Given the description of an element on the screen output the (x, y) to click on. 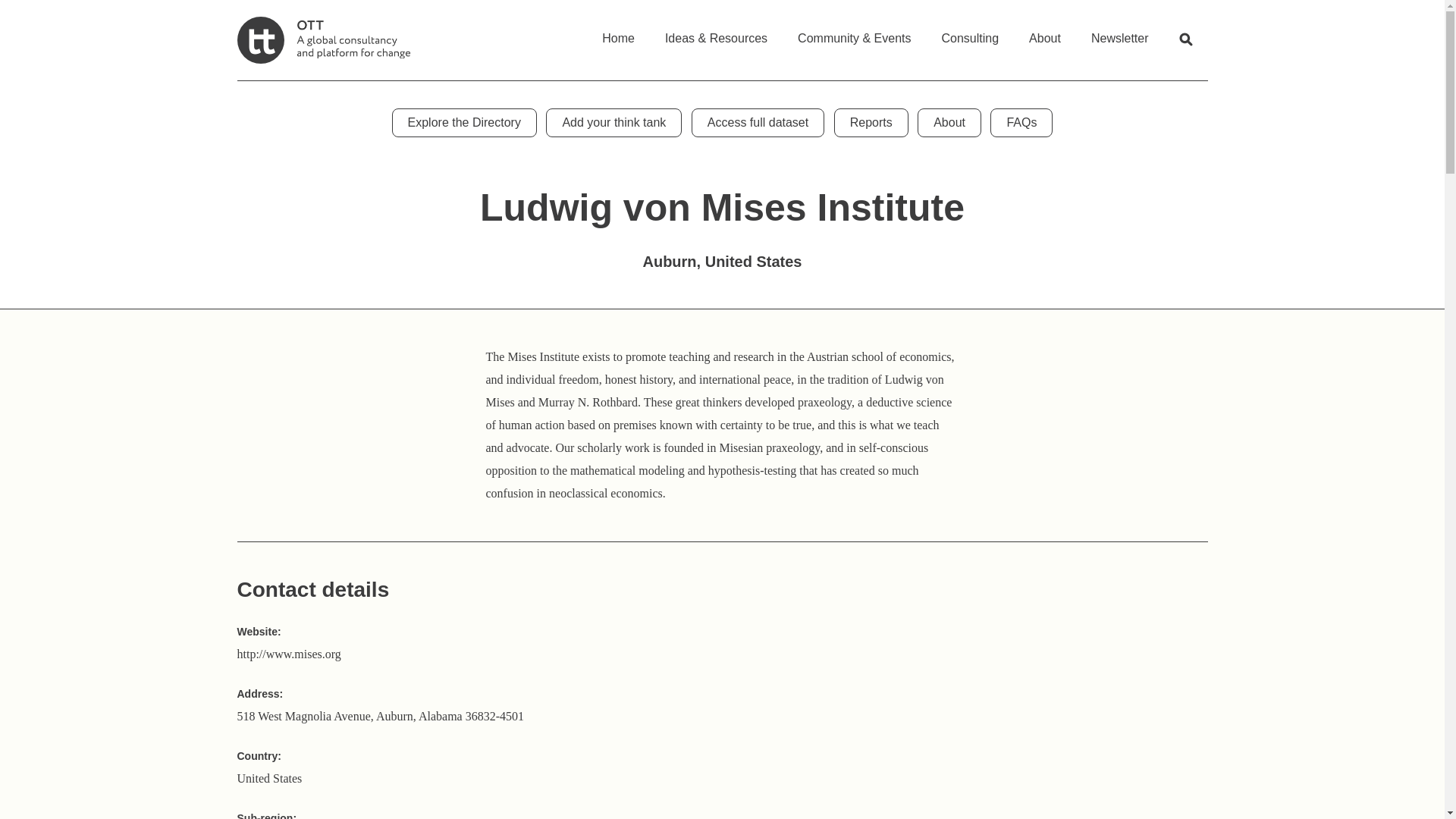
United States (268, 778)
Reports (871, 122)
Access full dataset (757, 122)
About (1044, 33)
Explore the Directory (464, 122)
Go to homepage (322, 39)
Add your think tank (613, 122)
Consulting (970, 33)
About (949, 122)
Newsletter (1119, 33)
FAQs (1021, 122)
Home (617, 33)
